Given the description of an element on the screen output the (x, y) to click on. 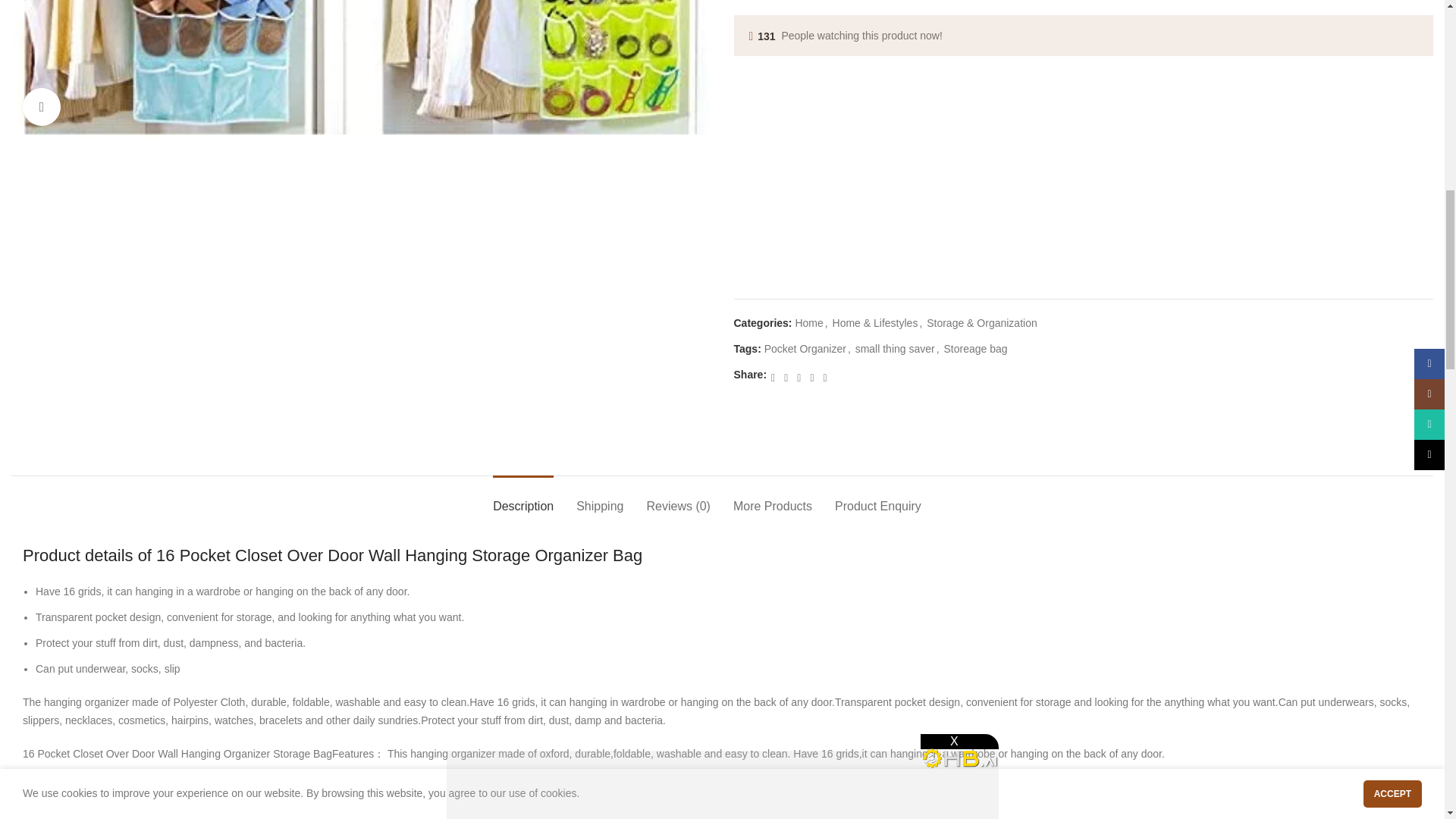
3rd party ad content (721, 433)
3rd party ad content (1083, 105)
ee0f285ddd0009ebec6c5712117867bf (361, 68)
